Given the description of an element on the screen output the (x, y) to click on. 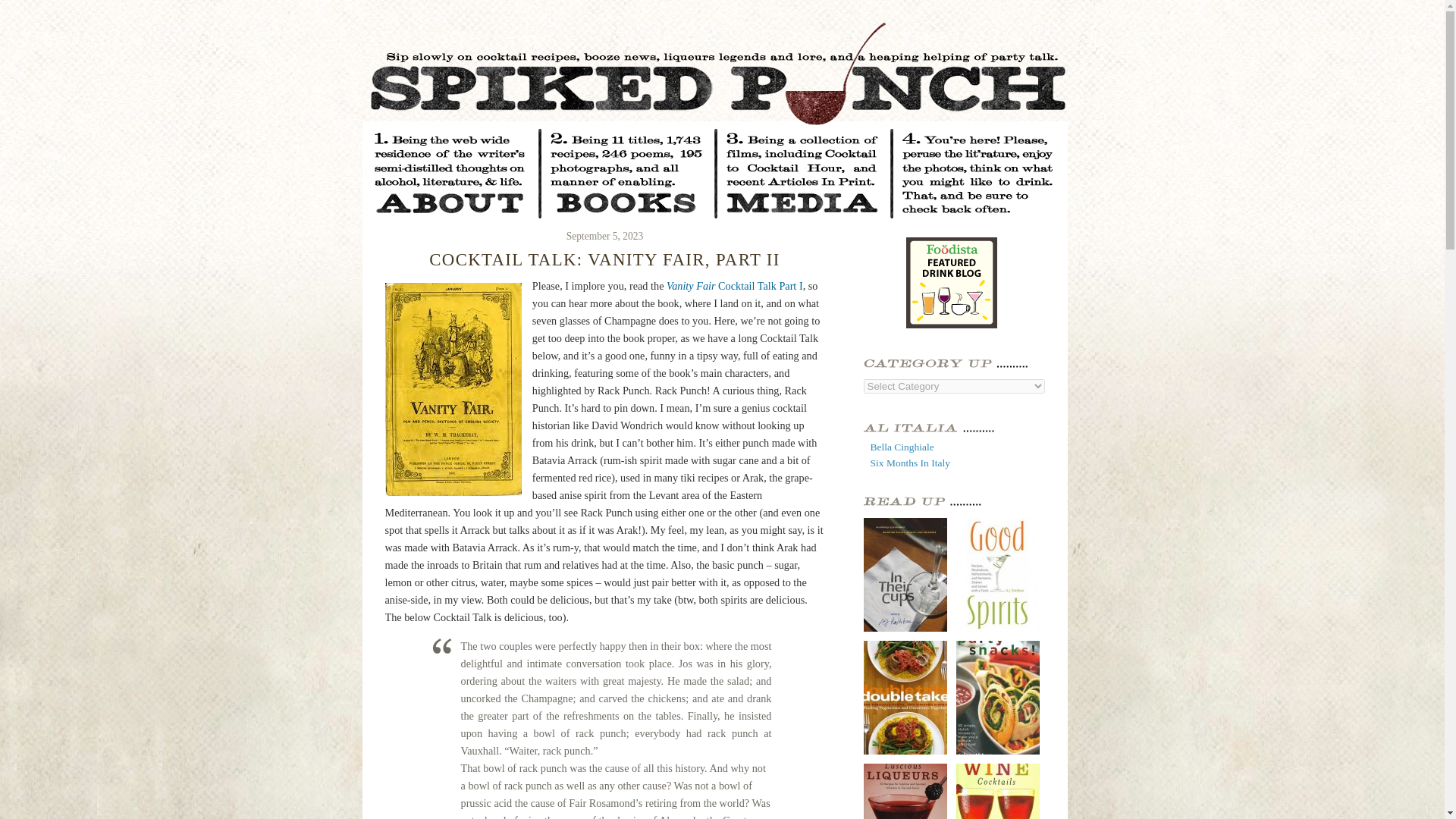
Foodista Drink Blog of the Day Badge (951, 282)
Vanity Fair Cocktail Talk Part I (734, 285)
COCKTAIL TALK: VANITY FAIR, PART II (604, 259)
Bella Cinghiale (902, 446)
Six Months In Italy (910, 461)
